Given the description of an element on the screen output the (x, y) to click on. 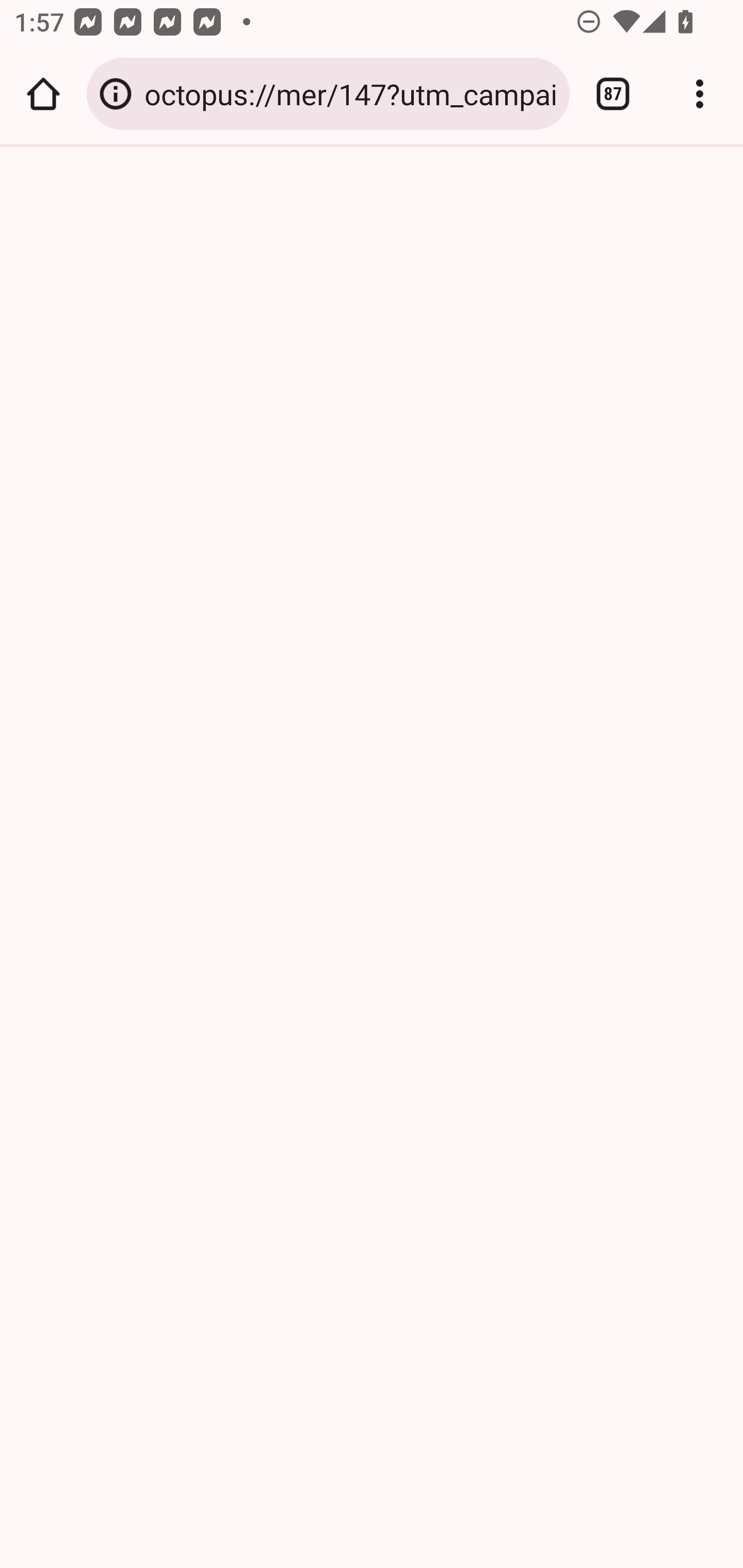
Open the home page (43, 93)
Your connection to this site is not secure (115, 93)
Switch or close tabs (612, 93)
Customize and control Google Chrome (699, 93)
